Given the description of an element on the screen output the (x, y) to click on. 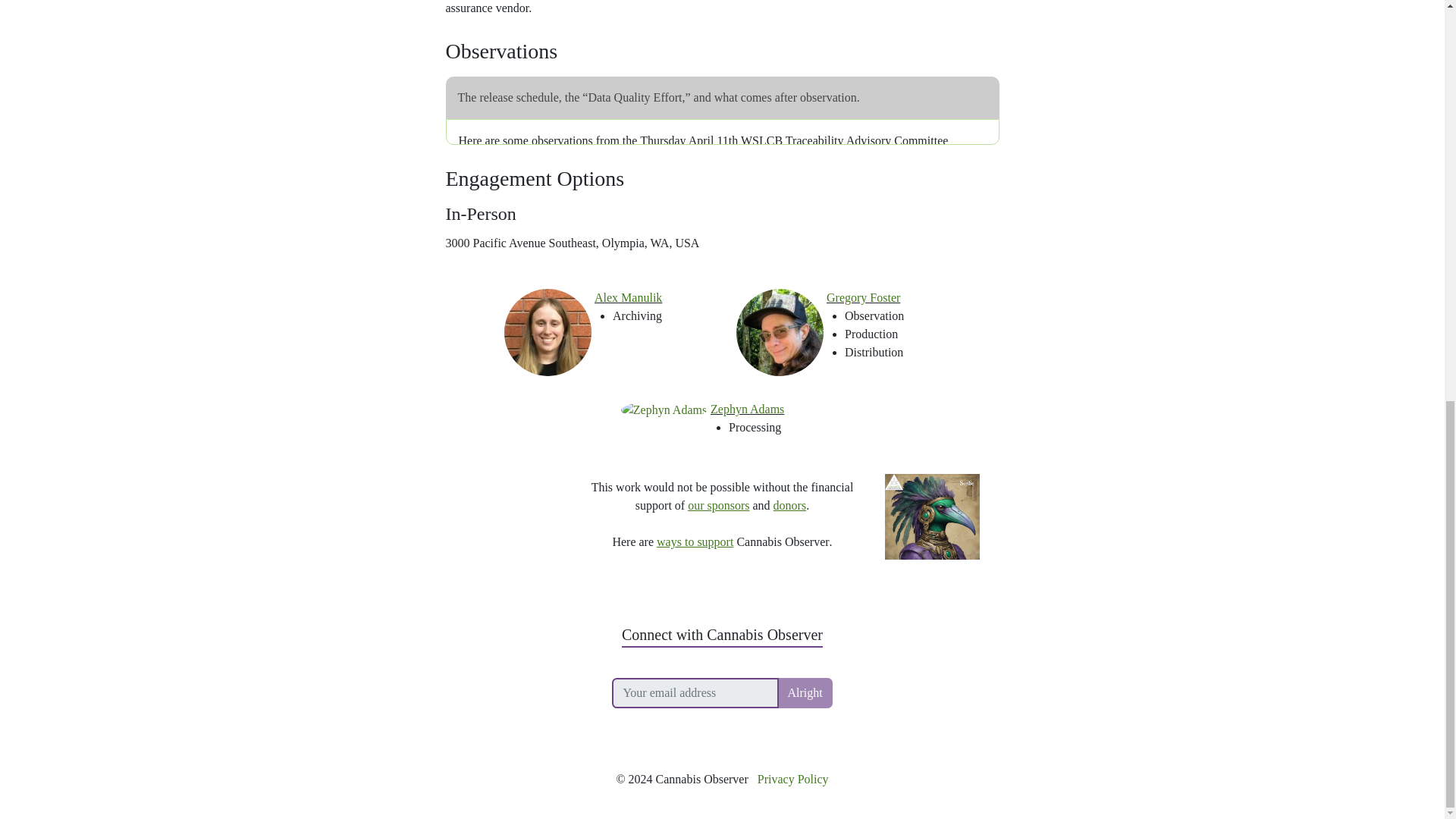
Consider us as a watchdog... (511, 469)
Cannabis Observer, Watchdog (511, 469)
Gregory Foster (863, 297)
Zephyn Adams (747, 408)
Consider us as a scribe... (932, 469)
Alex Manulik (628, 297)
